Given the description of an element on the screen output the (x, y) to click on. 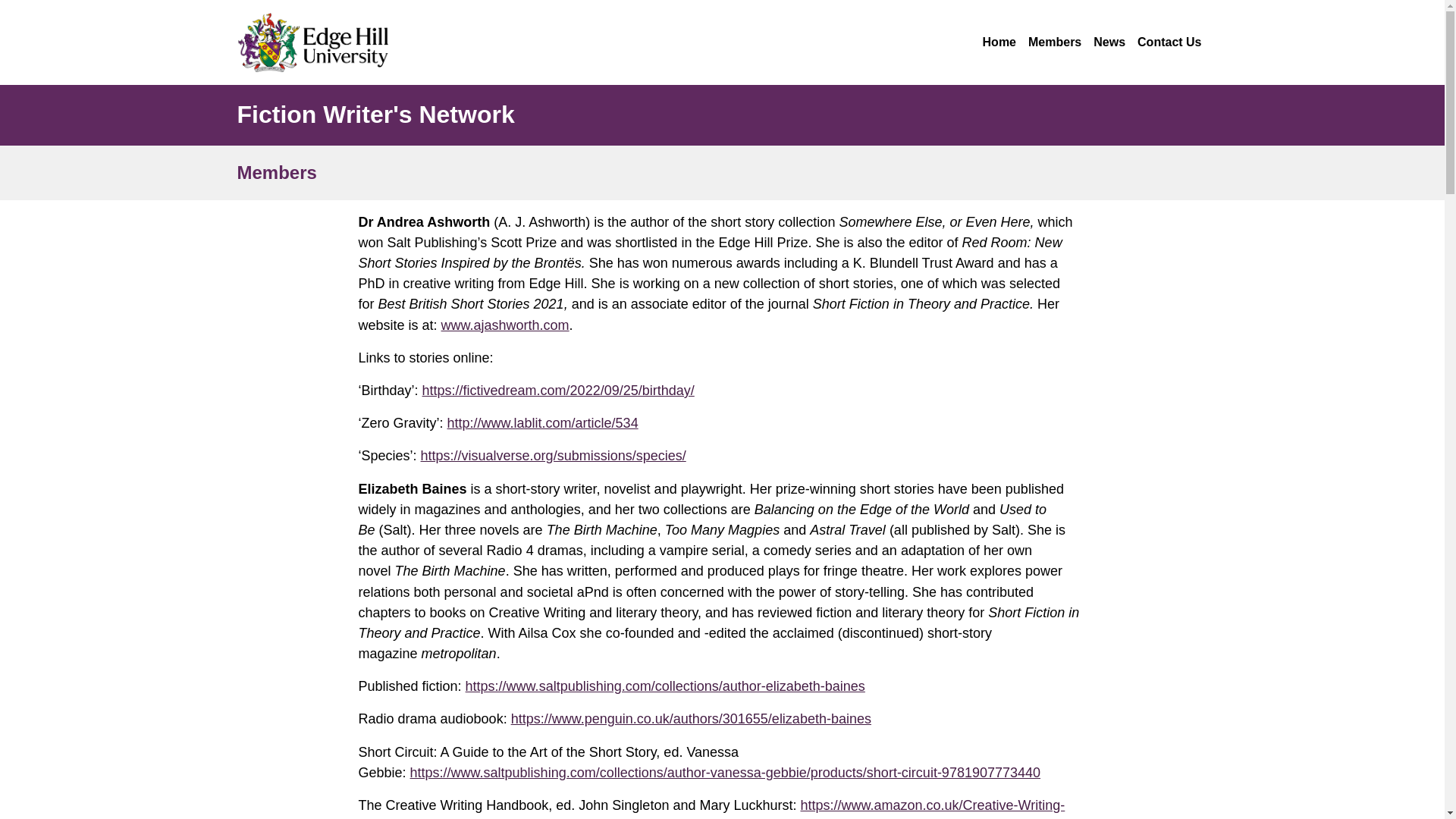
Home (999, 42)
Members (1054, 42)
www.ajashworth.com (505, 324)
News (1109, 42)
Contact Us (1169, 42)
Fiction Writer's Network (374, 113)
